Given the description of an element on the screen output the (x, y) to click on. 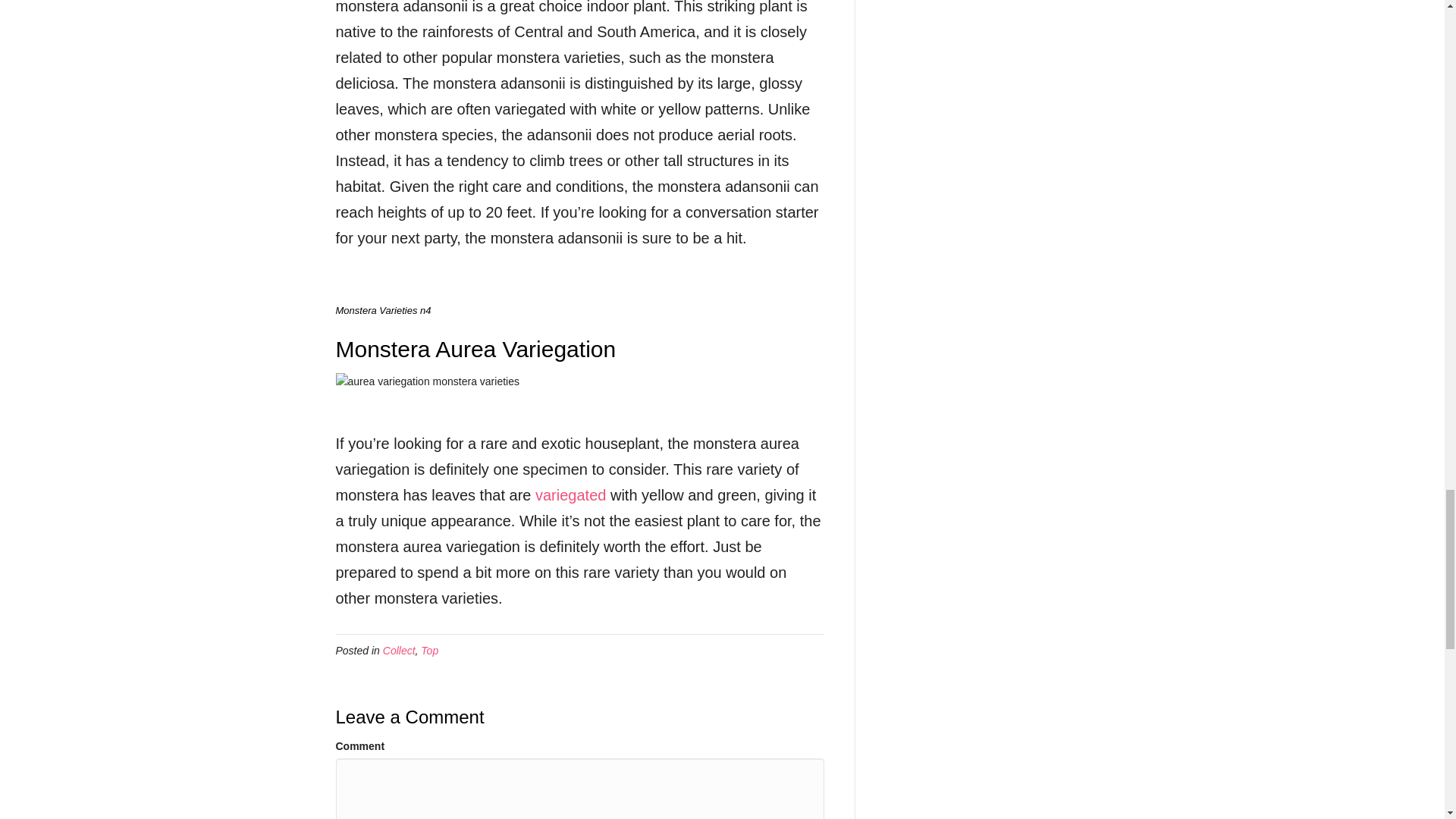
Collect (398, 650)
variegated (570, 494)
Top (429, 650)
